Given the description of an element on the screen output the (x, y) to click on. 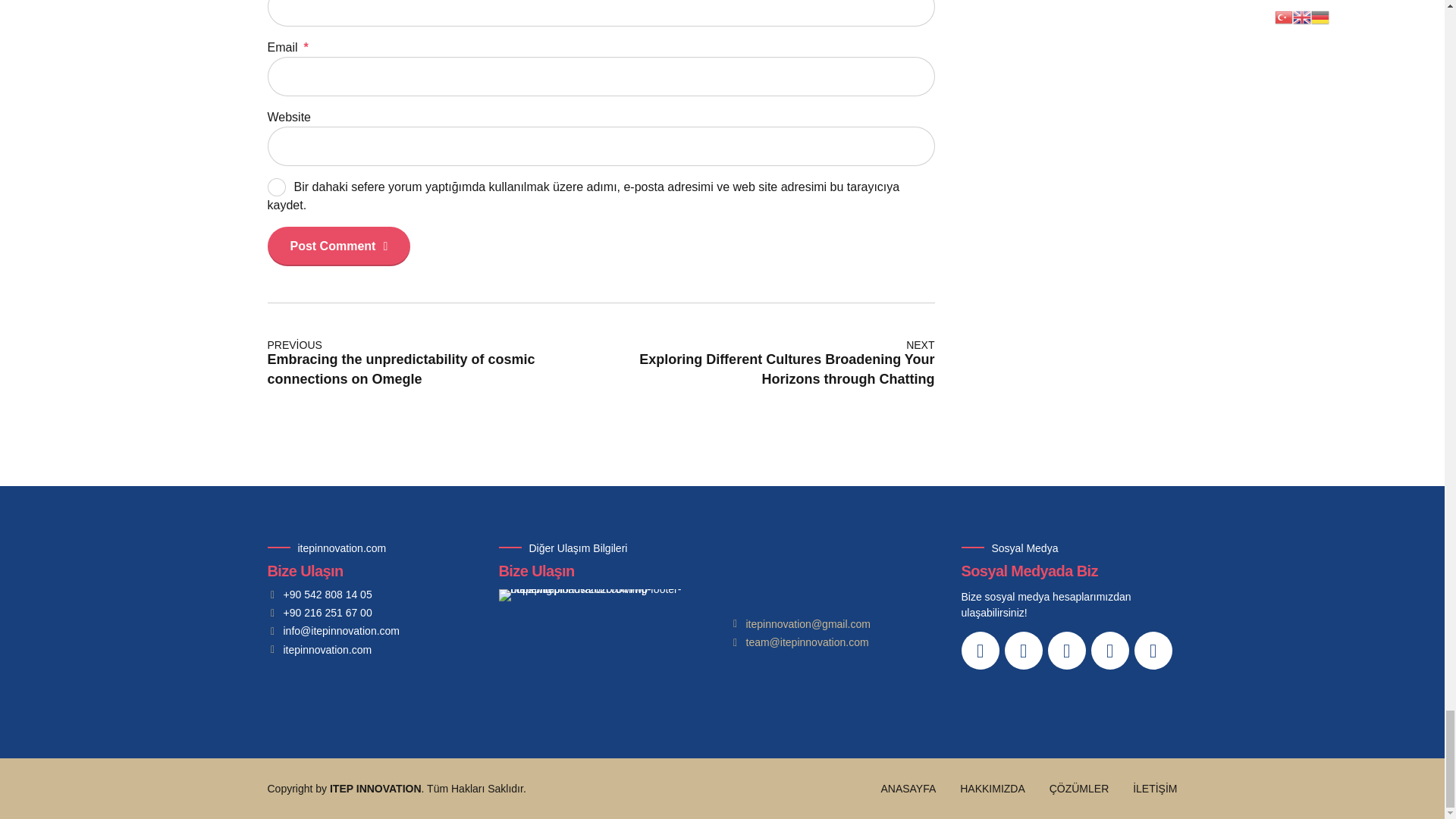
itepinnovation.com (318, 650)
yes (275, 187)
Post Comment (338, 246)
